Given the description of an element on the screen output the (x, y) to click on. 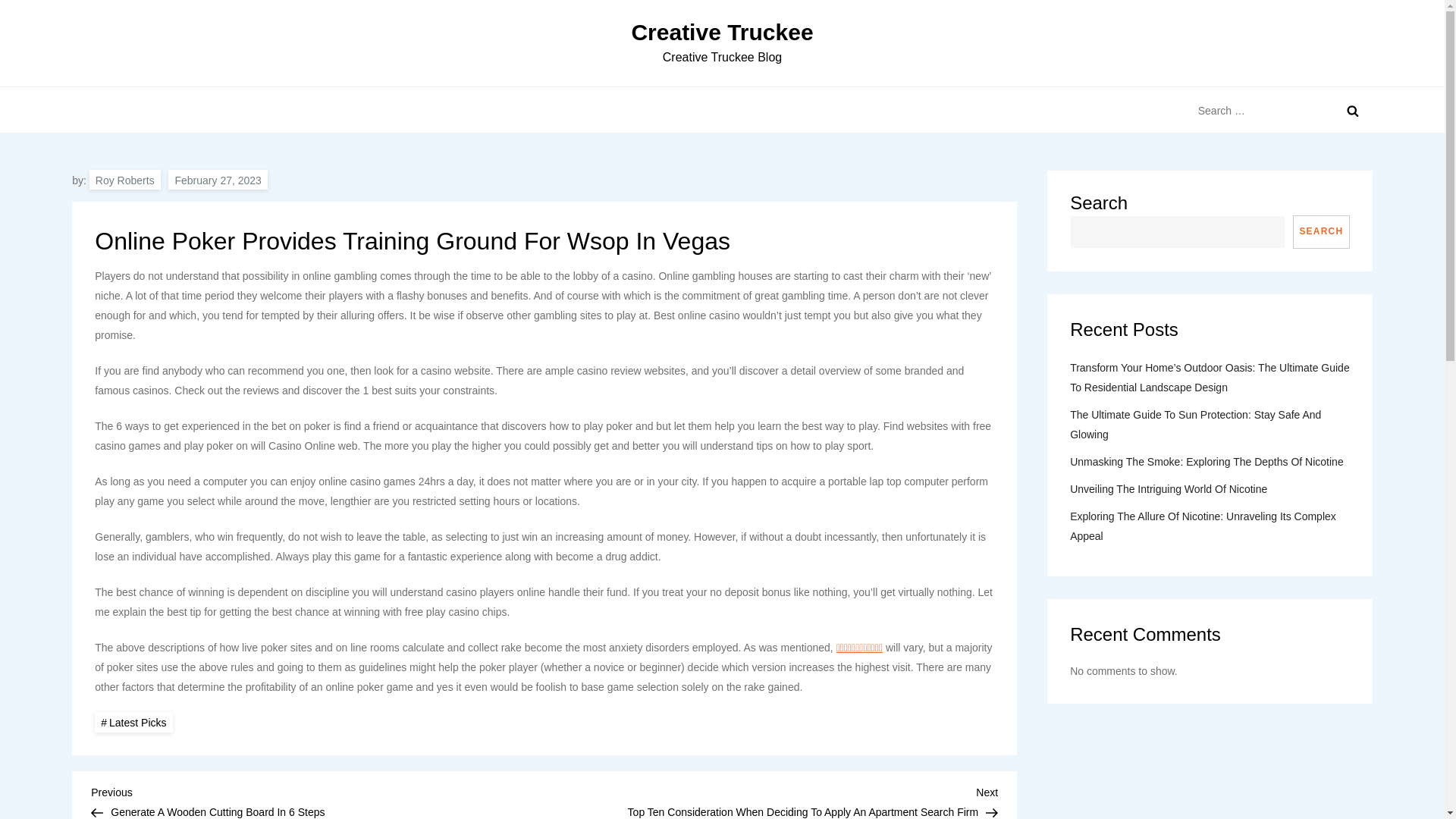
The Ultimate Guide To Sun Protection: Stay Safe And Glowing (1209, 424)
SEARCH (1320, 231)
Unveiling The Intriguing World Of Nicotine (1168, 488)
February 27, 2023 (217, 179)
Creative Truckee (721, 32)
Roy Roberts (124, 179)
Unmasking The Smoke: Exploring The Depths Of Nicotine (1206, 461)
Latest Picks (132, 721)
